Given the description of an element on the screen output the (x, y) to click on. 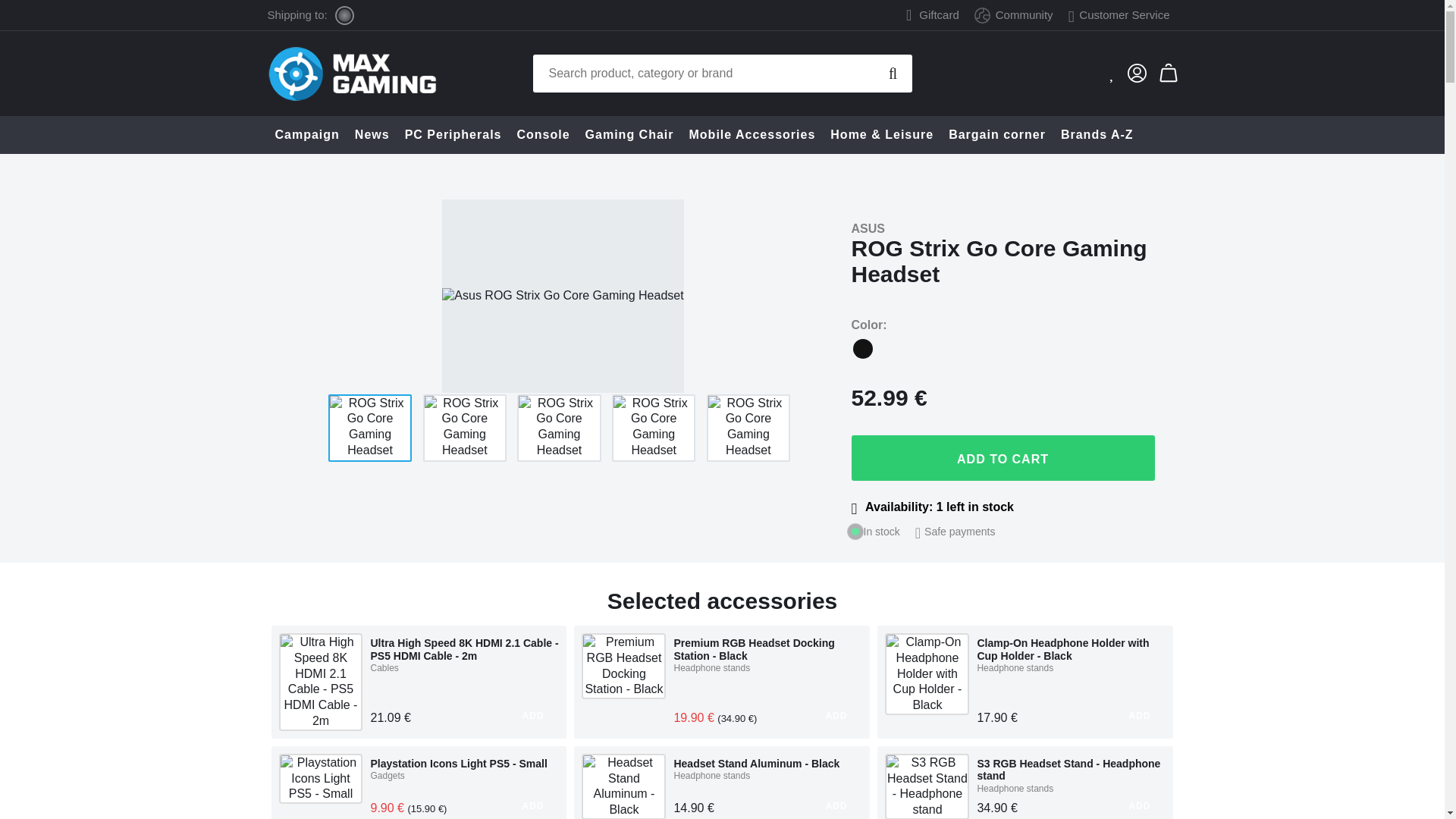
News (372, 134)
Campaign (306, 134)
Login (1131, 72)
Customer Service (1119, 14)
PC Peripherals (453, 134)
PC Peripherals (453, 134)
News (372, 134)
Giftcard (938, 15)
Campaign (306, 134)
Community (1013, 14)
